Given the description of an element on the screen output the (x, y) to click on. 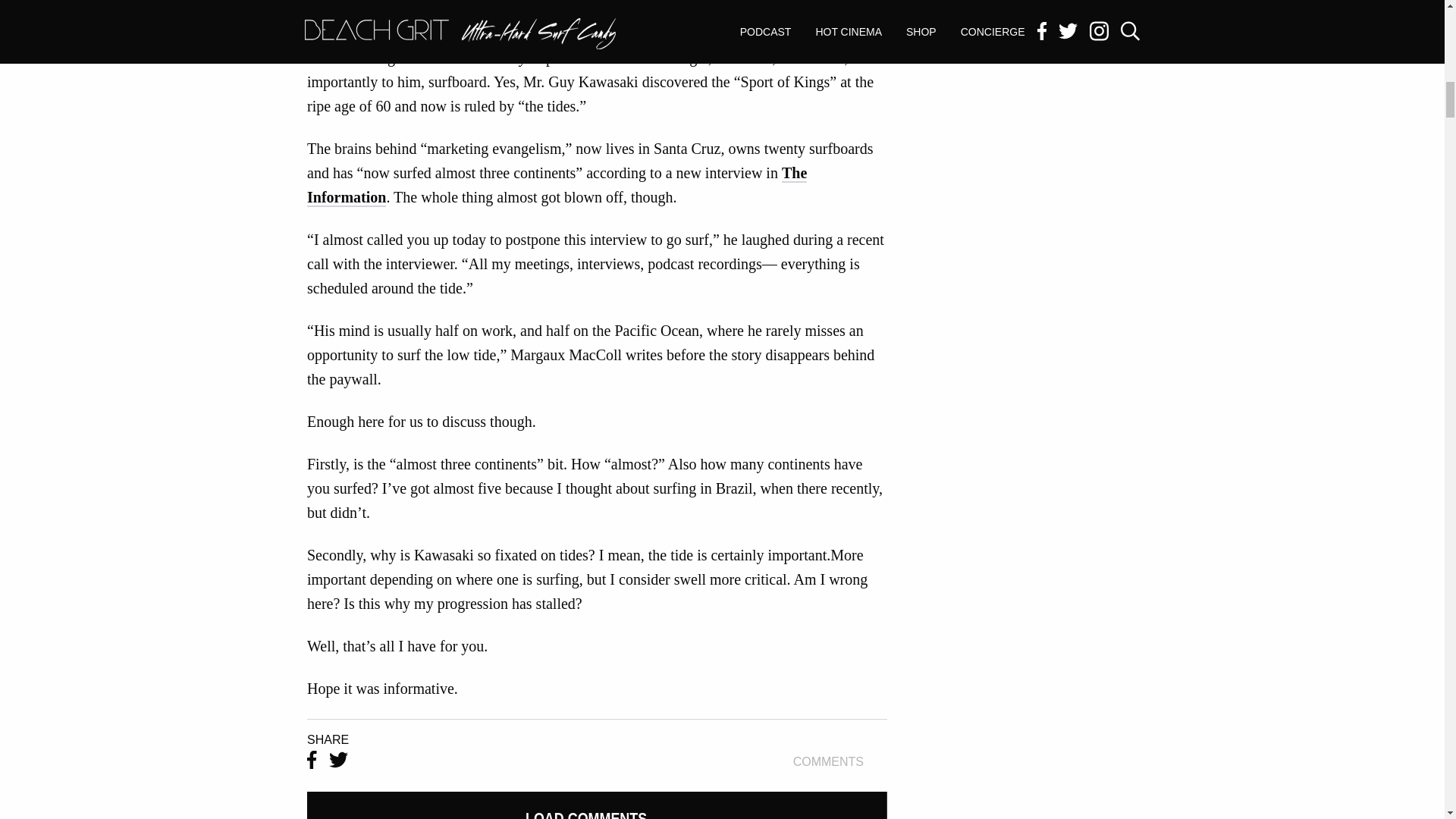
The Information (839, 761)
